Given the description of an element on the screen output the (x, y) to click on. 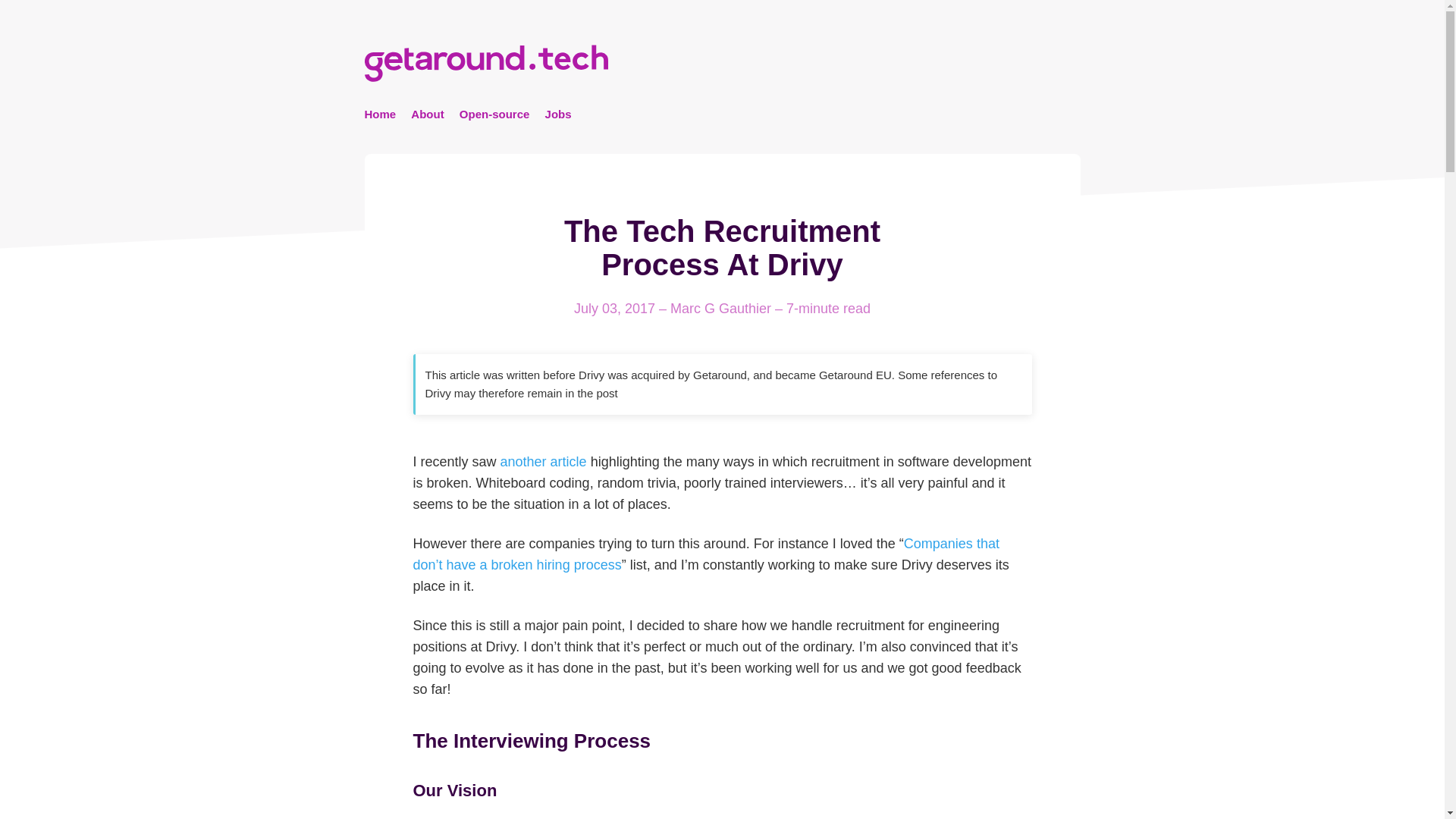
Open-source (494, 115)
Home (380, 115)
was acquired by Getaround (676, 374)
another article (543, 461)
Jobs (558, 115)
About (427, 115)
